Given the description of an element on the screen output the (x, y) to click on. 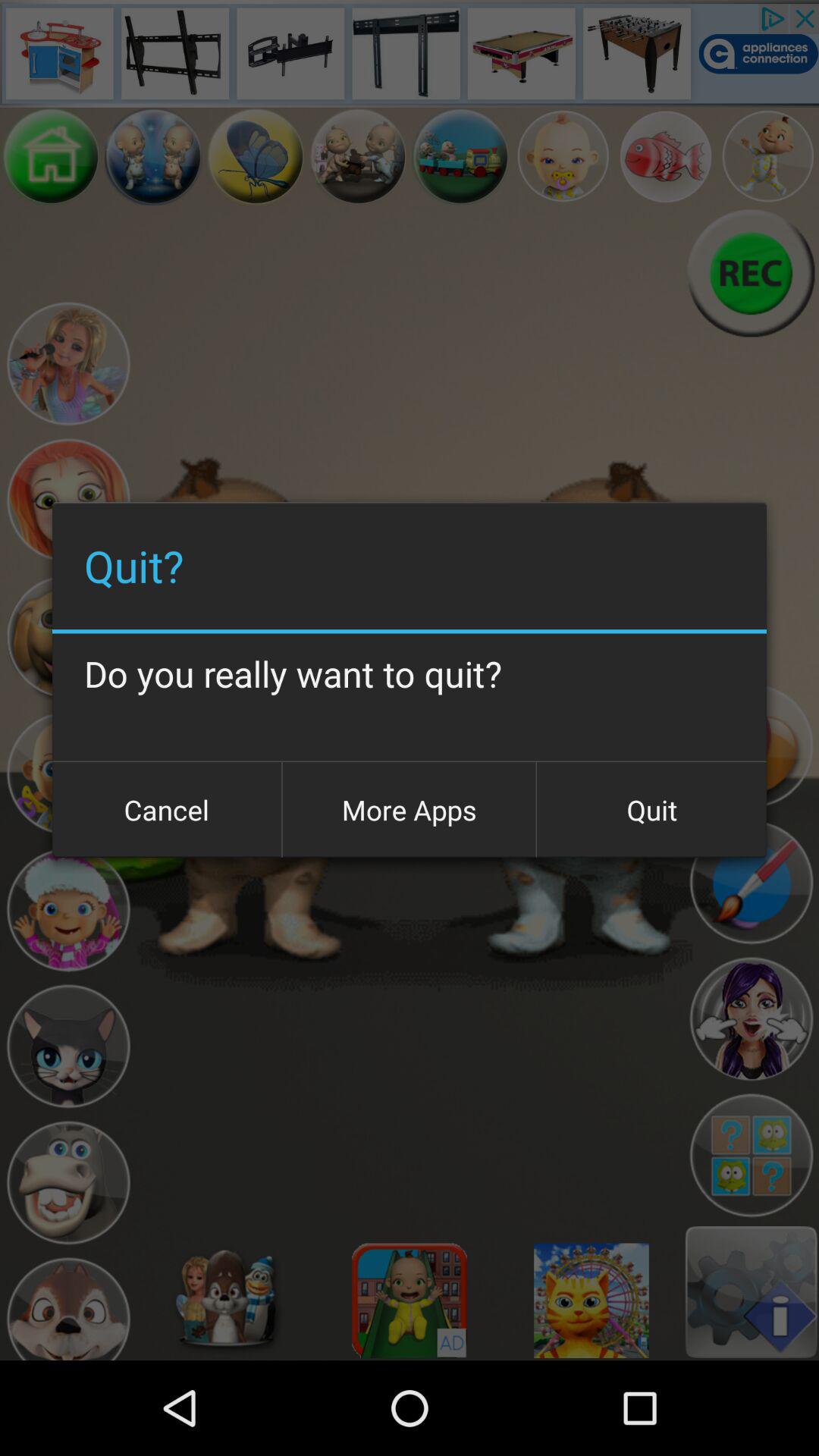
help icon (751, 1155)
